Given the description of an element on the screen output the (x, y) to click on. 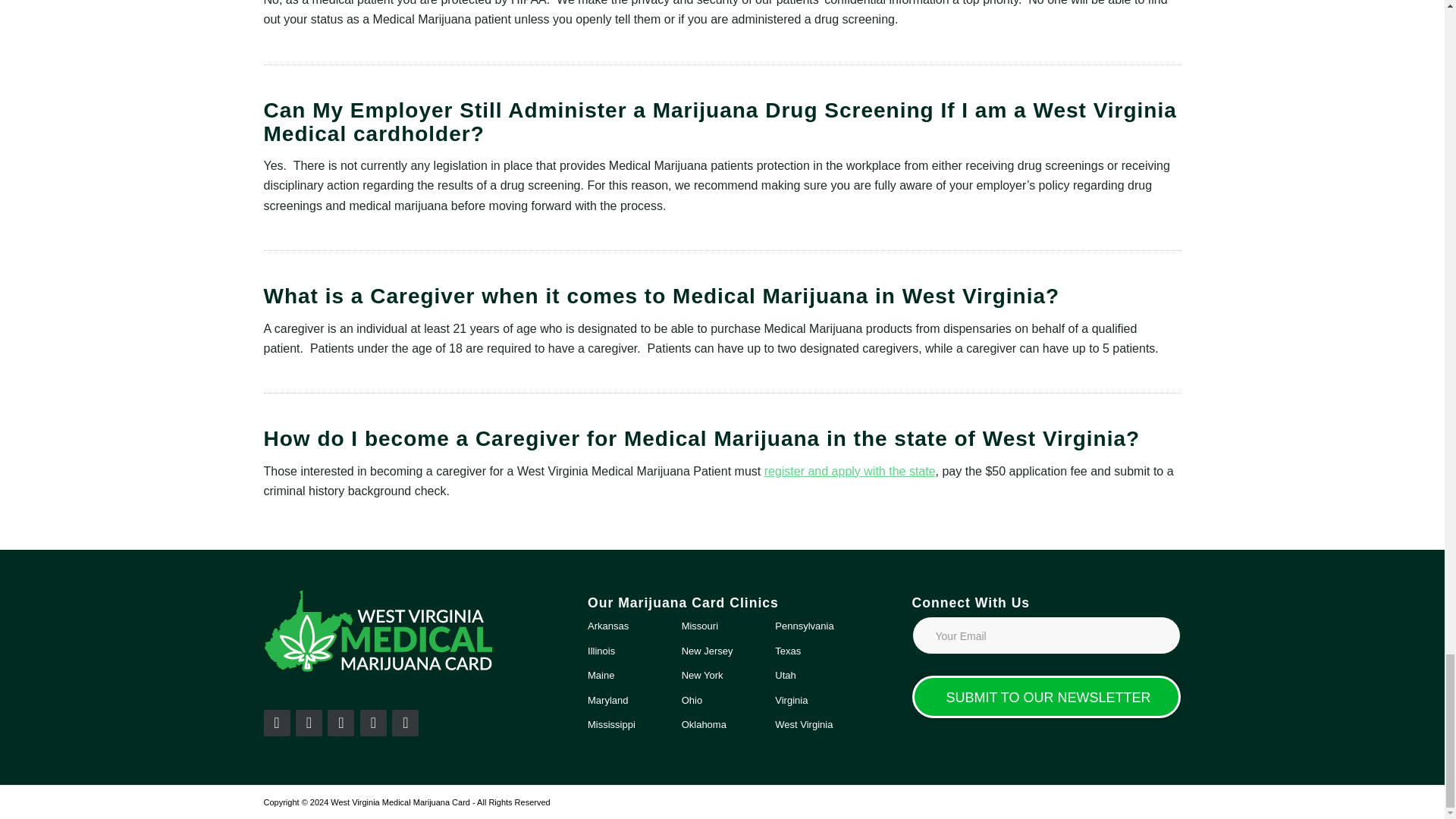
register and apply with the state (850, 471)
